Given the description of an element on the screen output the (x, y) to click on. 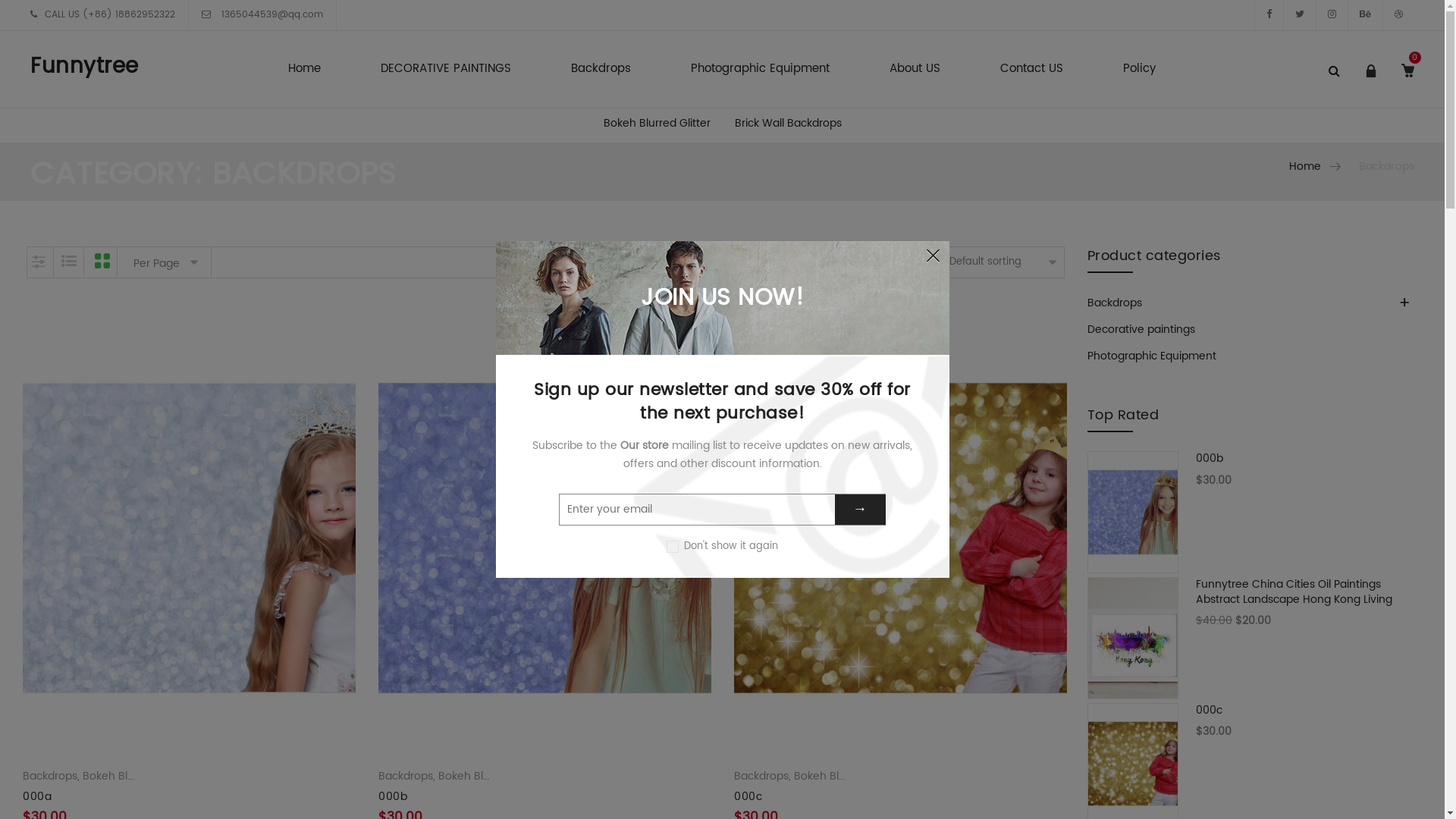
Decorative paintings Element type: text (1141, 329)
Default sorting Element type: text (1004, 262)
Home Element type: text (1305, 166)
Brick Wall Backdrops Element type: text (787, 122)
000a Element type: text (36, 796)
Backdrops Element type: text (405, 775)
List view Element type: hover (68, 262)
Backdrops Element type: text (600, 69)
Backdrops Element type: text (1114, 302)
Grid view Element type: hover (102, 262)
1365044539@qq.com Element type: text (270, 14)
Bokeh Blurred Glitter Element type: text (846, 775)
Policy Element type: text (1139, 69)
0 Element type: text (1404, 82)
Photographic Equipment Element type: text (1151, 355)
DECORATIVE PAINTINGS Element type: text (445, 69)
 Filter Element type: hover (38, 262)
Home Element type: text (304, 69)
Skip to content Element type: text (30, 246)
000b Element type: text (392, 796)
000c Element type: text (748, 796)
000b Element type: text (1252, 470)
Bokeh Blurred Glitter Element type: text (491, 775)
Funnytree Element type: text (84, 66)
Contact US Element type: text (1031, 69)
Bokeh Blurred Glitter Element type: text (135, 775)
Backdrops Element type: text (49, 775)
000c Element type: text (1252, 721)
Backdrops Element type: text (761, 775)
Photographic Equipment Element type: text (759, 69)
About US Element type: text (914, 69)
Bokeh Blurred Glitter Element type: text (656, 122)
